Given the description of an element on the screen output the (x, y) to click on. 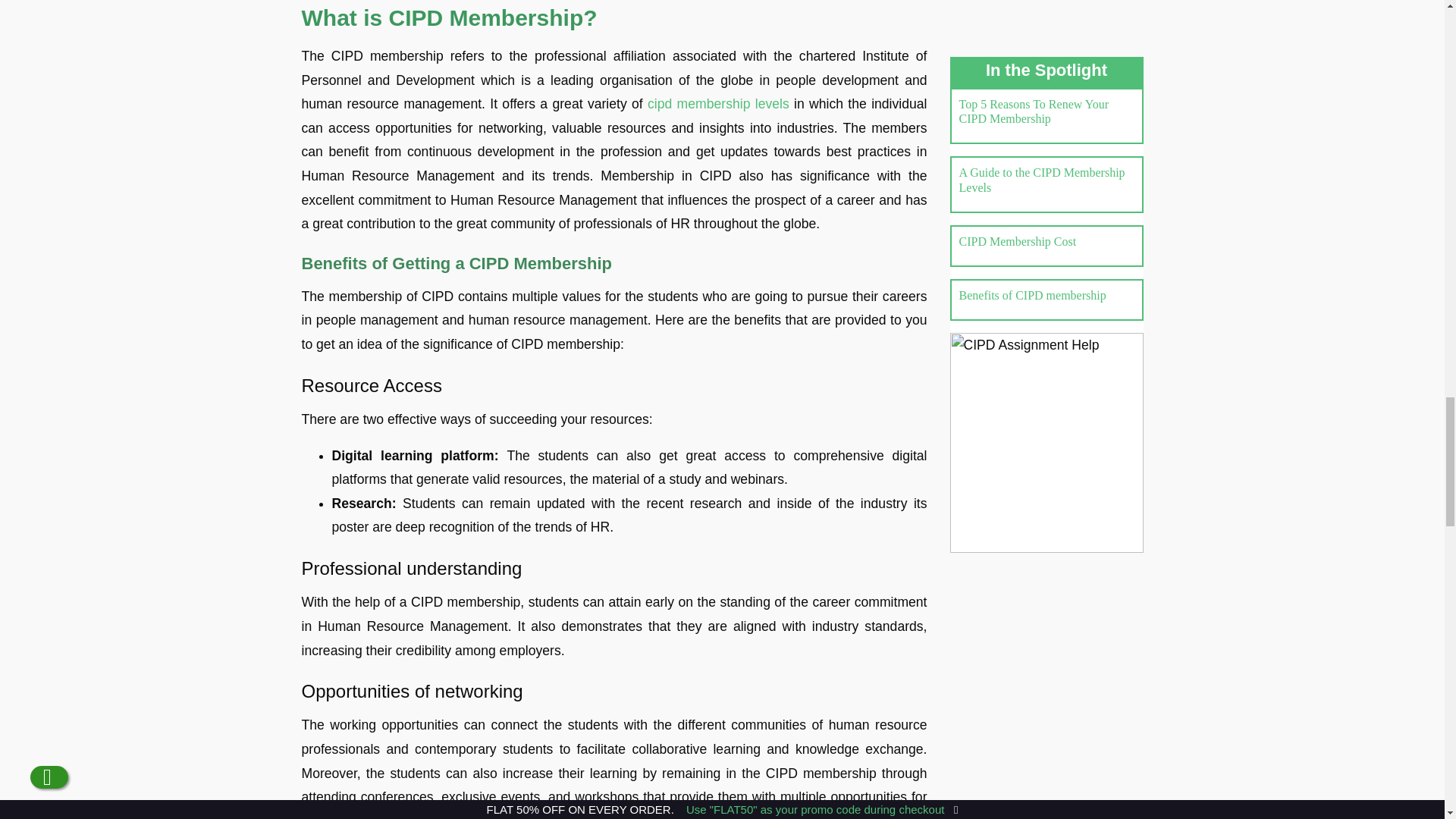
cipd membership levels (718, 103)
